Given the description of an element on the screen output the (x, y) to click on. 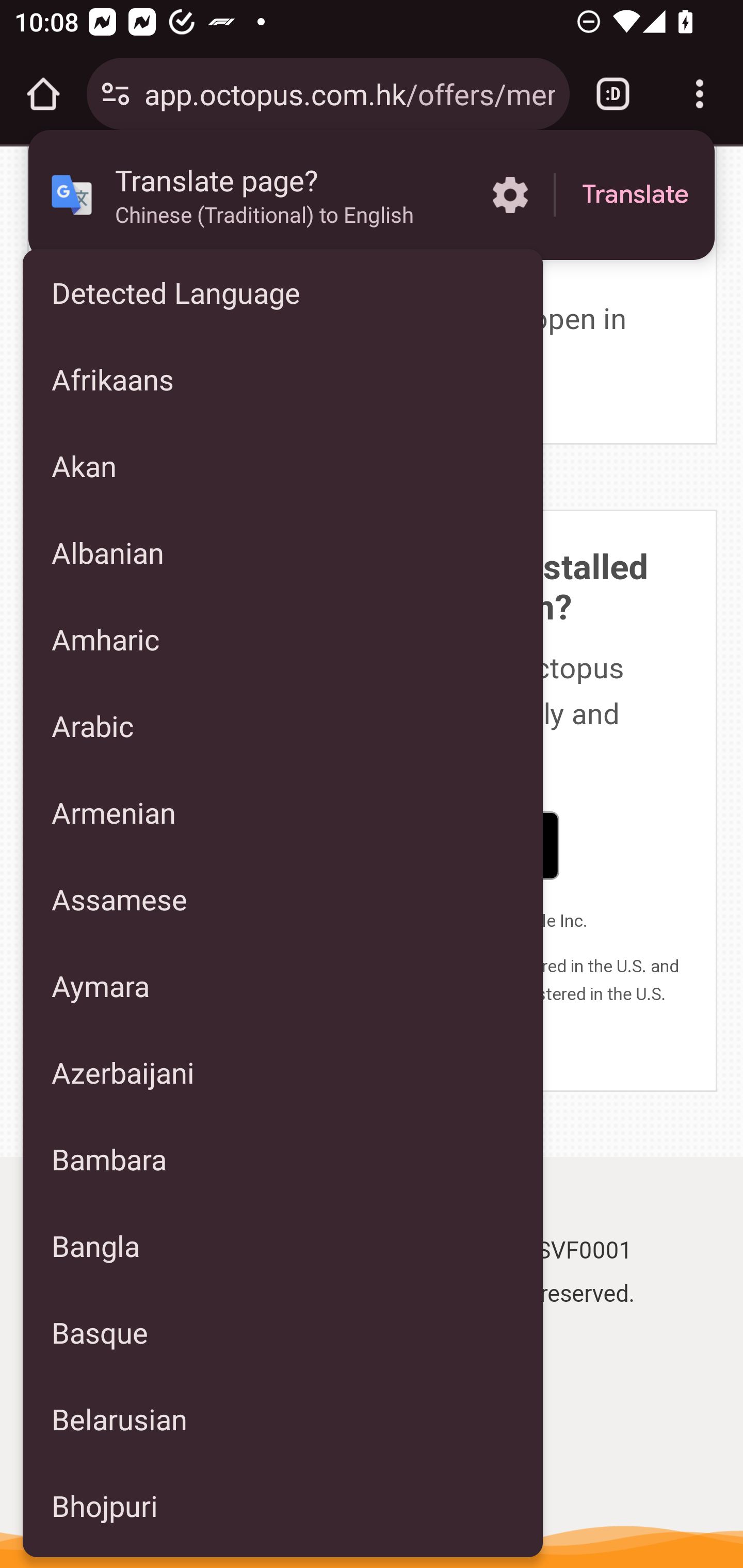
Detected Language (283, 292)
Afrikaans (283, 378)
Akan (283, 465)
Albanian (283, 552)
Amharic (283, 638)
Arabic (283, 725)
Armenian (283, 812)
Assamese (283, 899)
Aymara (283, 985)
Azerbaijani (283, 1072)
Bambara (283, 1159)
Bangla (283, 1245)
Basque (283, 1331)
Belarusian (283, 1418)
Bhojpuri (283, 1505)
